Given the description of an element on the screen output the (x, y) to click on. 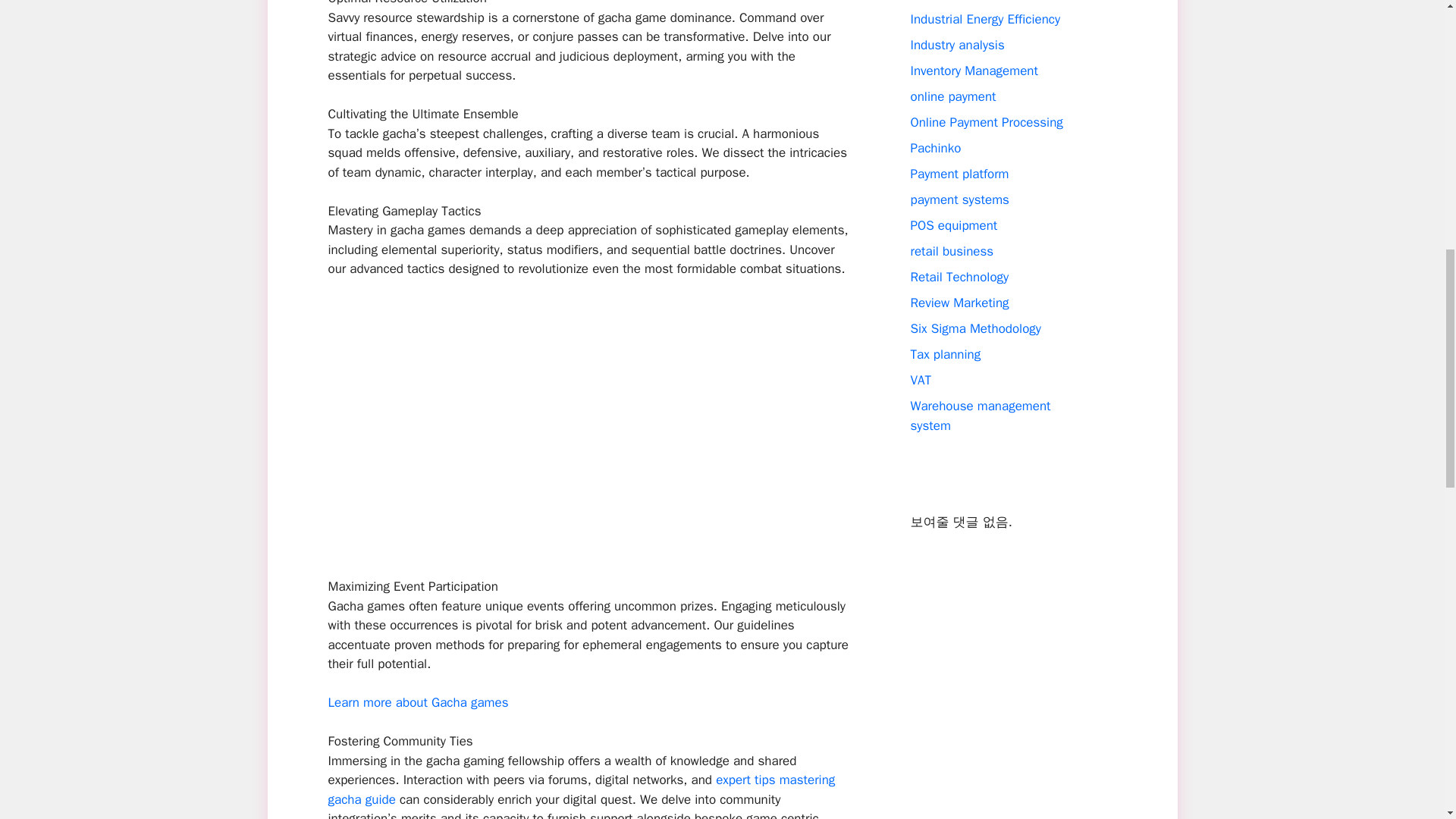
Learn more about Gacha games (417, 702)
Industrial Energy Efficiency (984, 19)
Scroll back to top (1406, 720)
Industry analysis (957, 44)
Inventory Management (973, 70)
Gacha (927, 0)
expert tips mastering gacha guide (580, 789)
